Given the description of an element on the screen output the (x, y) to click on. 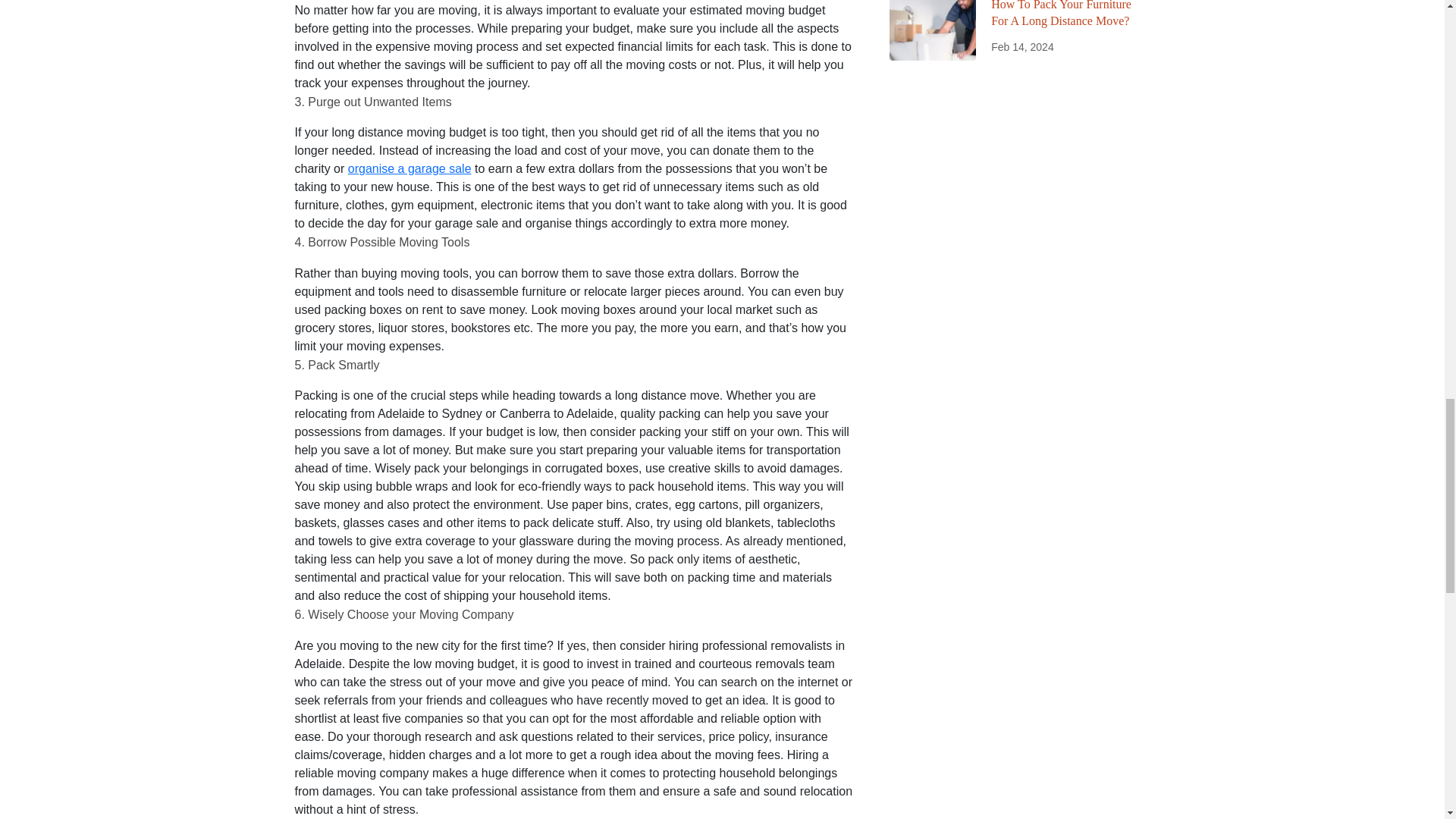
organise a garage sale (409, 168)
